Given the description of an element on the screen output the (x, y) to click on. 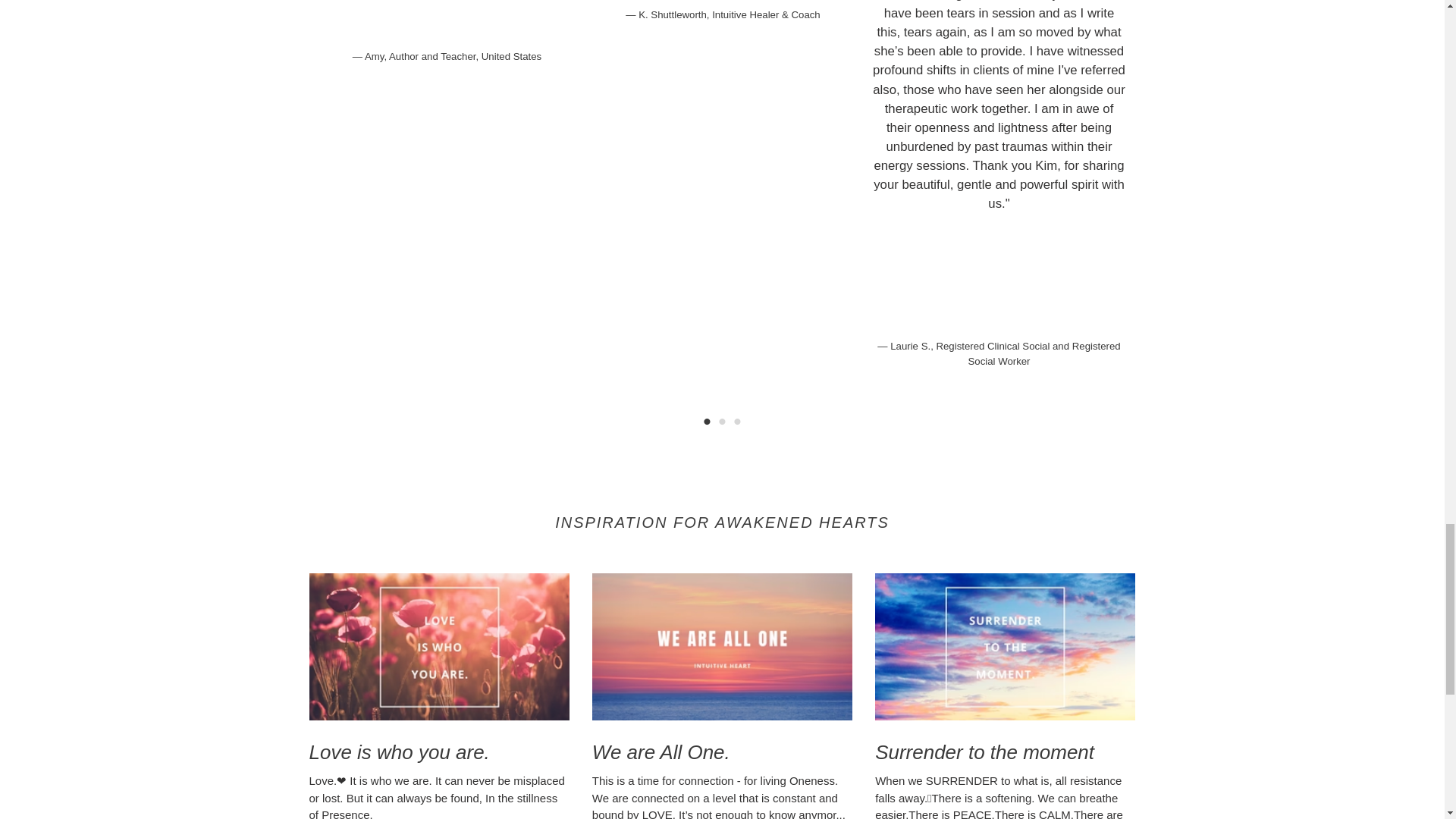
Surrender to the moment (1005, 668)
Love is who you are. (438, 668)
We are All One. (721, 668)
Slide 1 (706, 421)
Slide 2 (721, 421)
Slide 3 (736, 421)
